Given the description of an element on the screen output the (x, y) to click on. 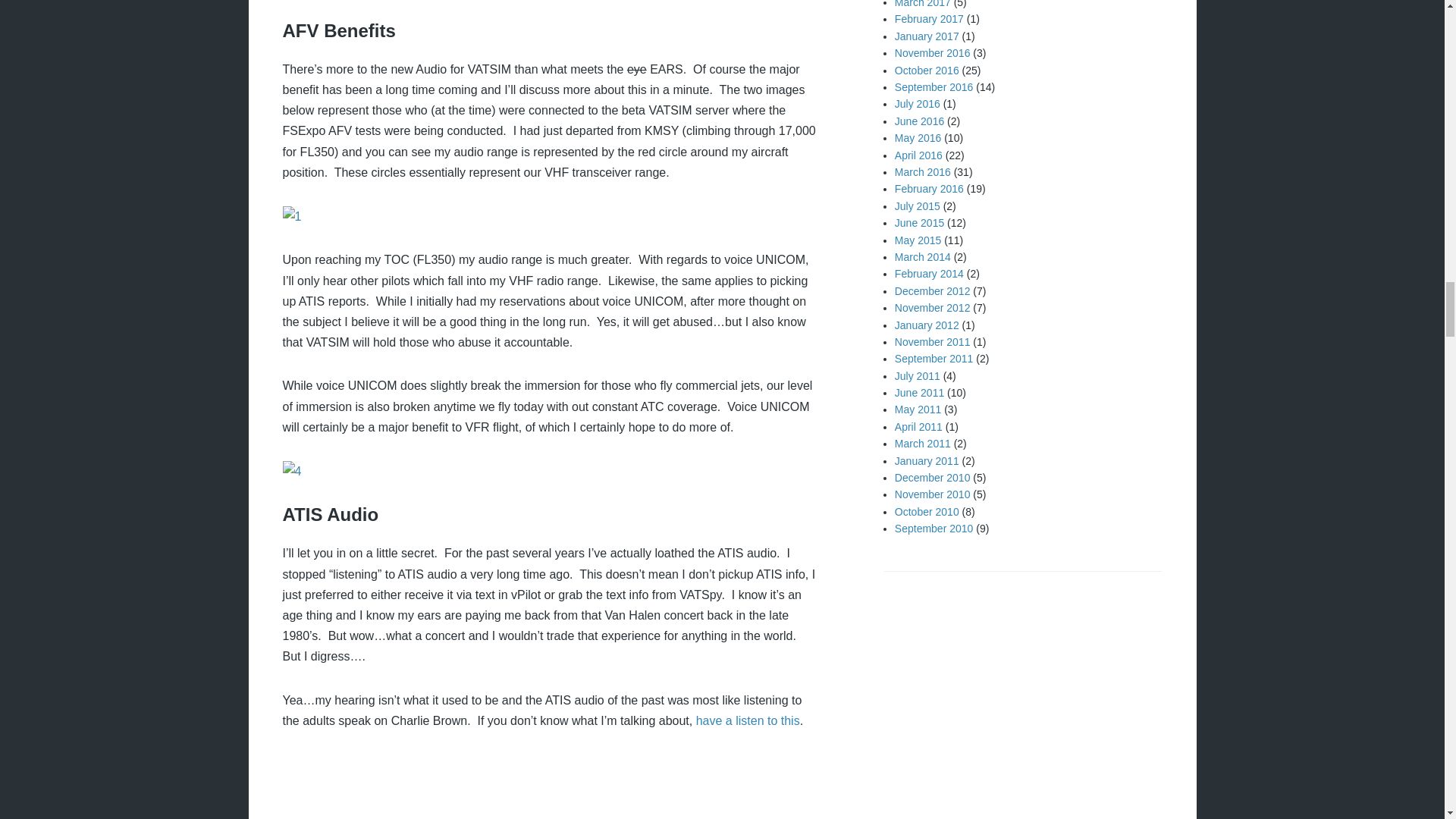
1 (291, 216)
4 (291, 471)
